Given the description of an element on the screen output the (x, y) to click on. 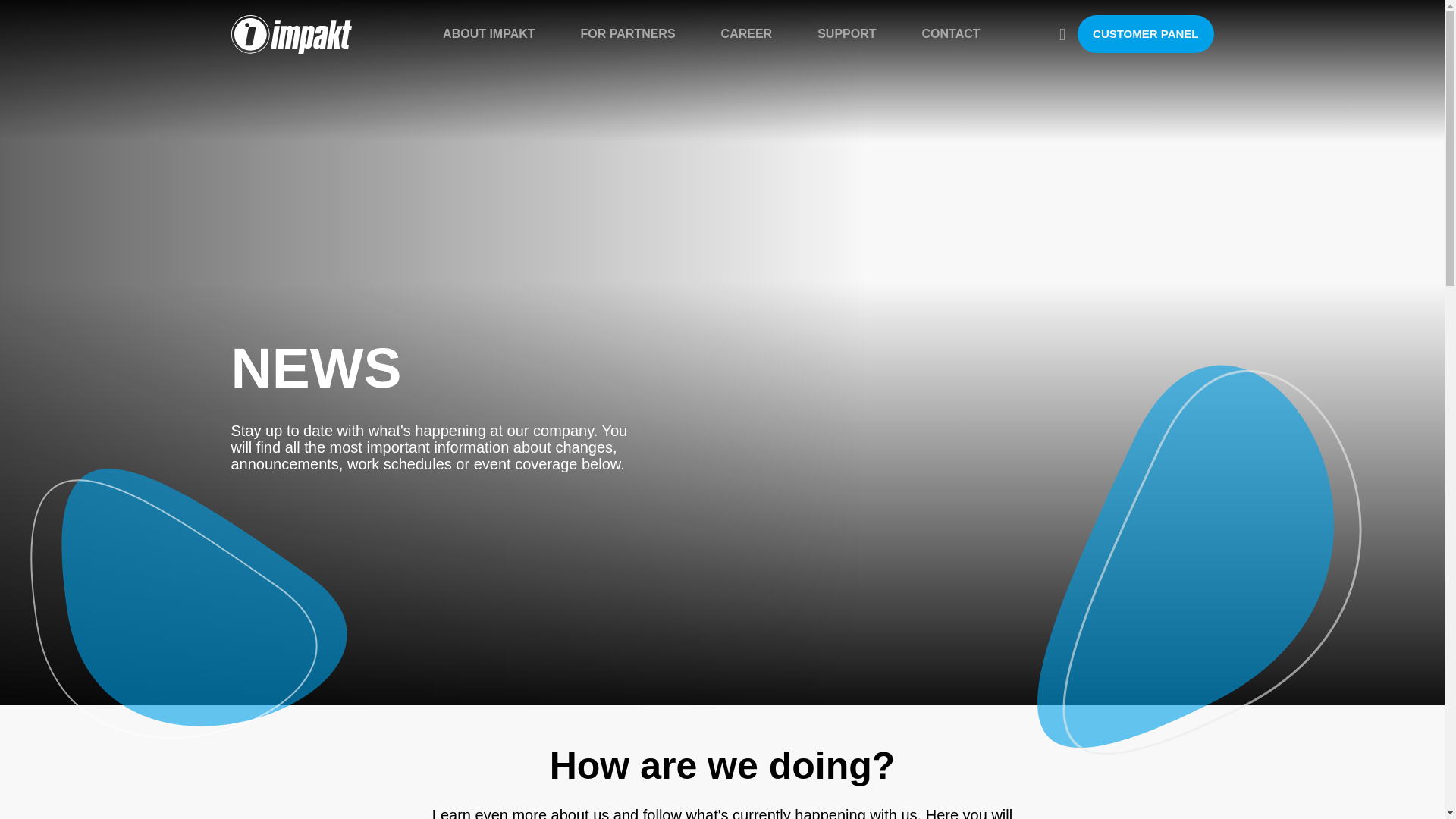
CONTACT (951, 33)
SUPPORT (846, 33)
CUSTOMER PANEL (1144, 34)
CAREER (746, 33)
ABOUT IMPAKT (488, 33)
FOR PARTNERS (627, 33)
